Given the description of an element on the screen output the (x, y) to click on. 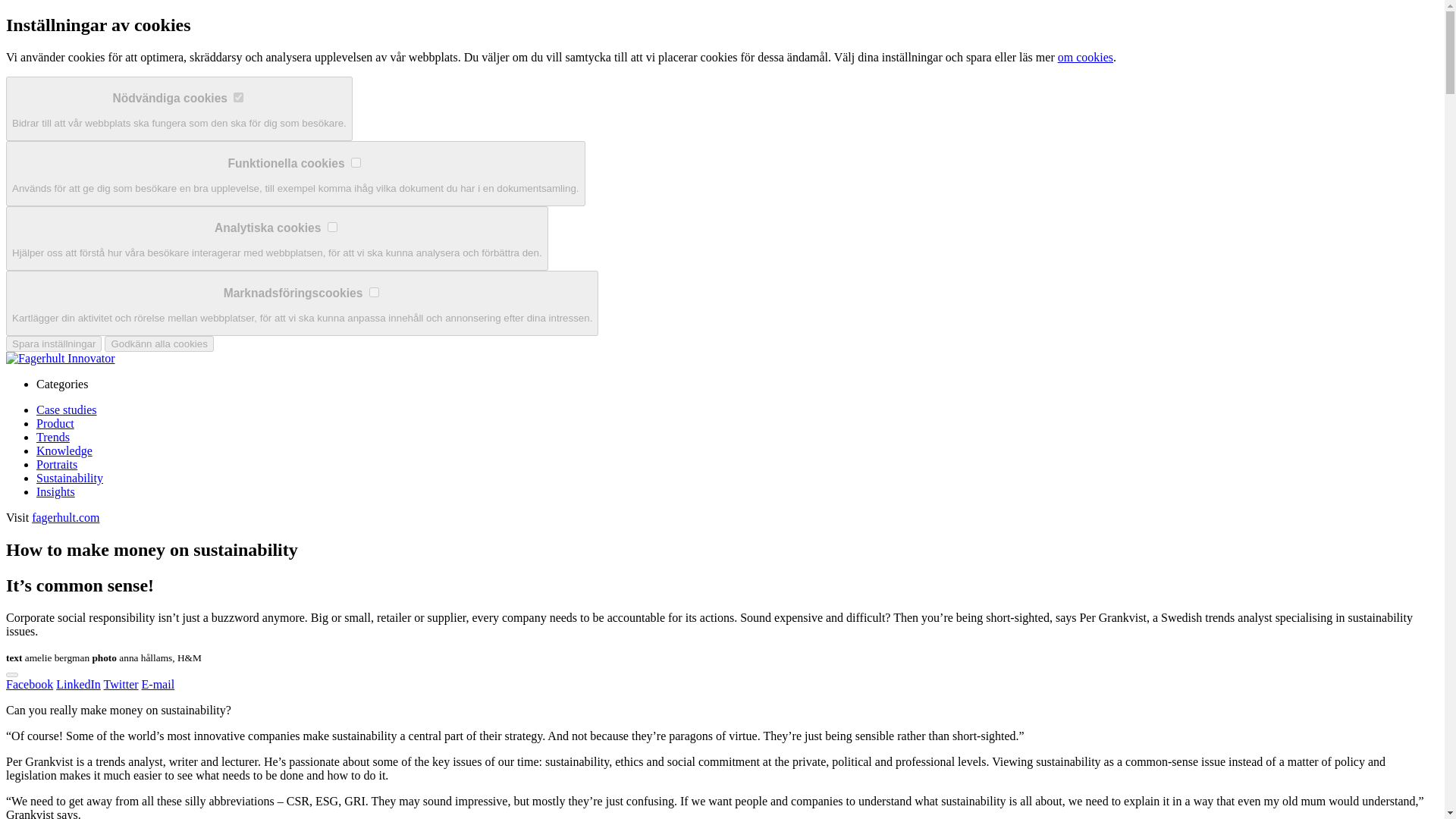
on (355, 162)
Trends (52, 436)
Portraits (56, 463)
Twitter (120, 684)
LinkedIn (78, 684)
Facebook (28, 684)
Cannot be disabled (238, 97)
Product (55, 422)
Sustainability (69, 477)
on (332, 226)
Case studies (66, 409)
on (373, 292)
fagerhult.com (65, 517)
E-mail (157, 684)
Insights (55, 491)
